Given the description of an element on the screen output the (x, y) to click on. 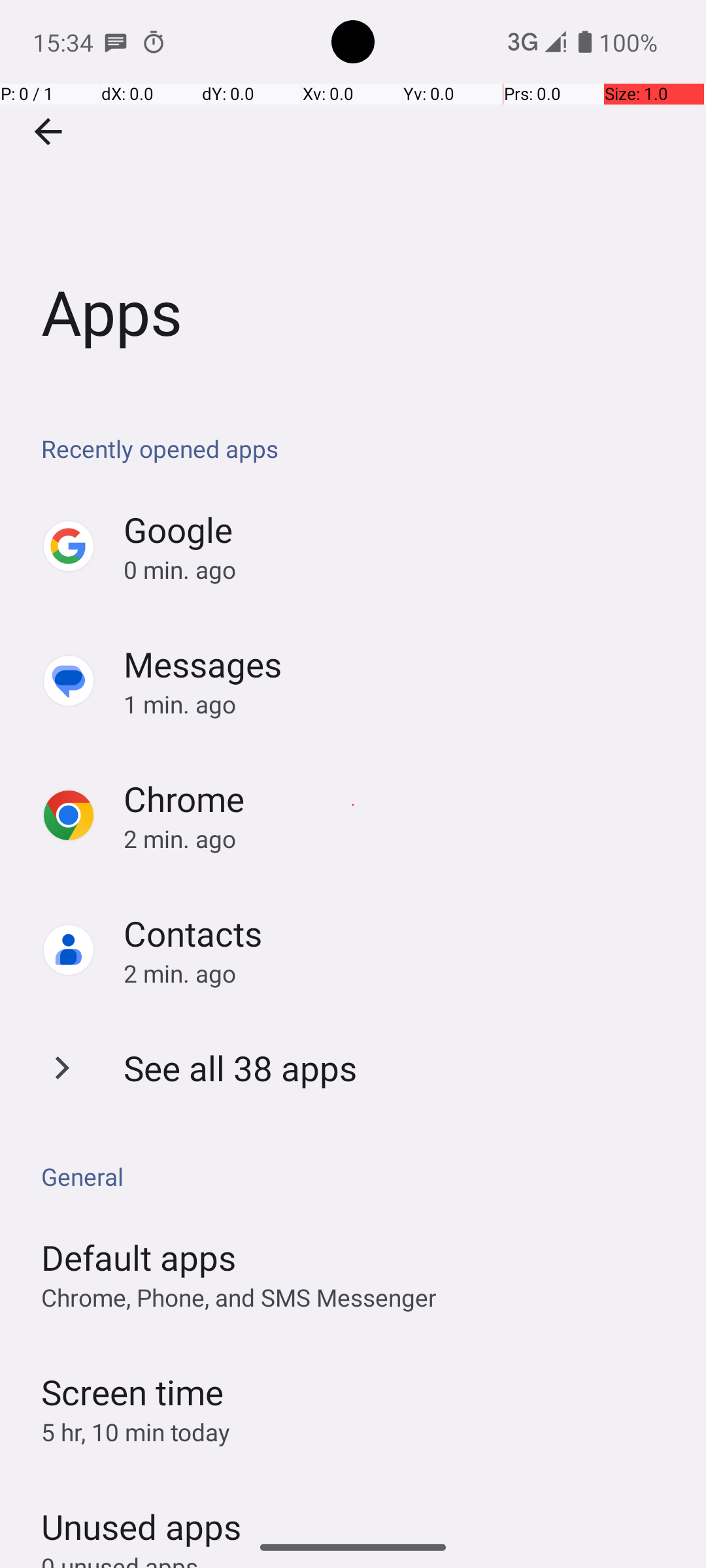
See all 38 apps Element type: android.widget.TextView (239, 1067)
5 hr, 10 min today Element type: android.widget.TextView (135, 1431)
